Given the description of an element on the screen output the (x, y) to click on. 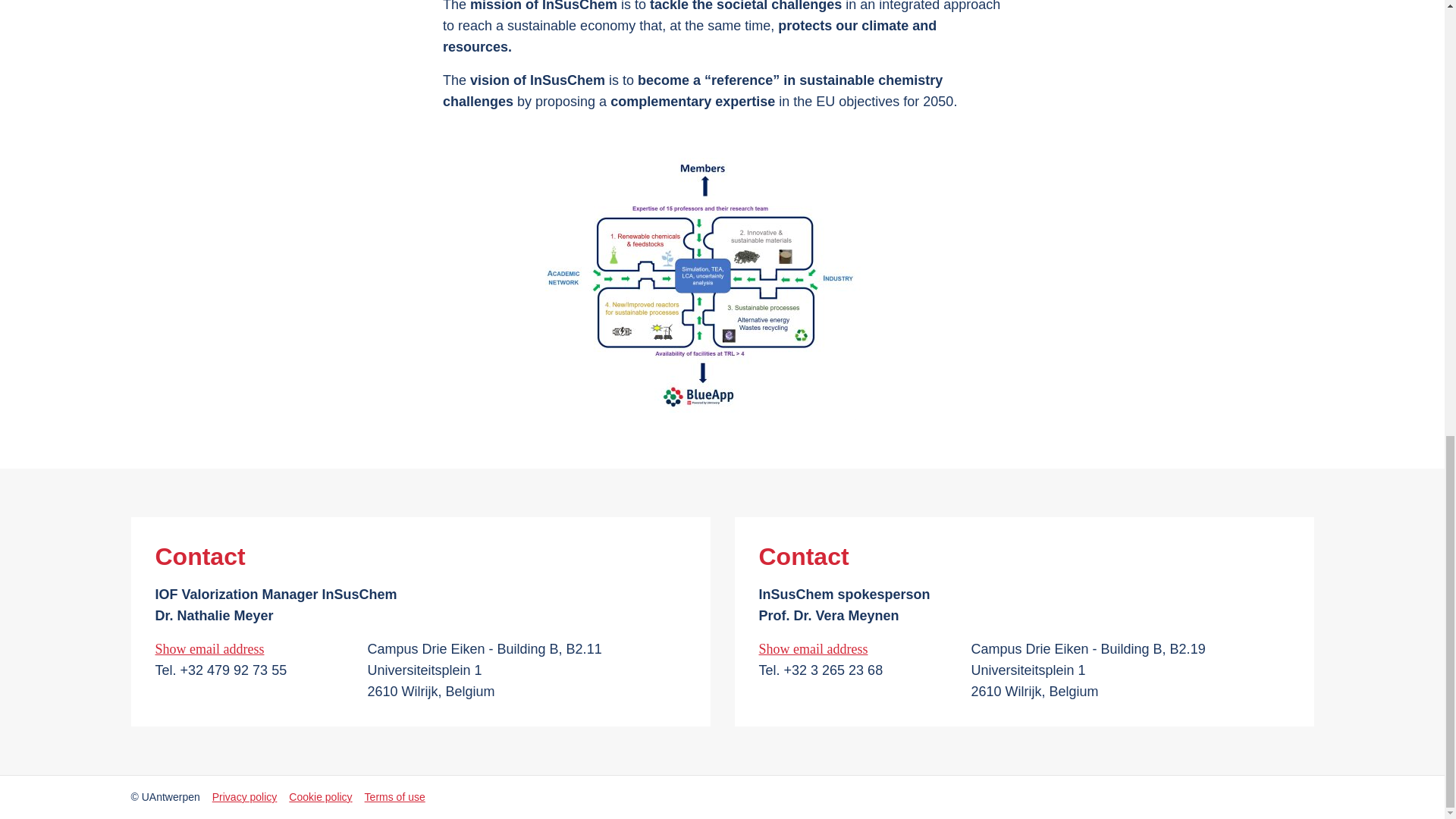
Show email address (837, 649)
Show email address (234, 649)
Privacy policy (244, 796)
Terms of use (394, 796)
Cookie policy (320, 796)
